Given the description of an element on the screen output the (x, y) to click on. 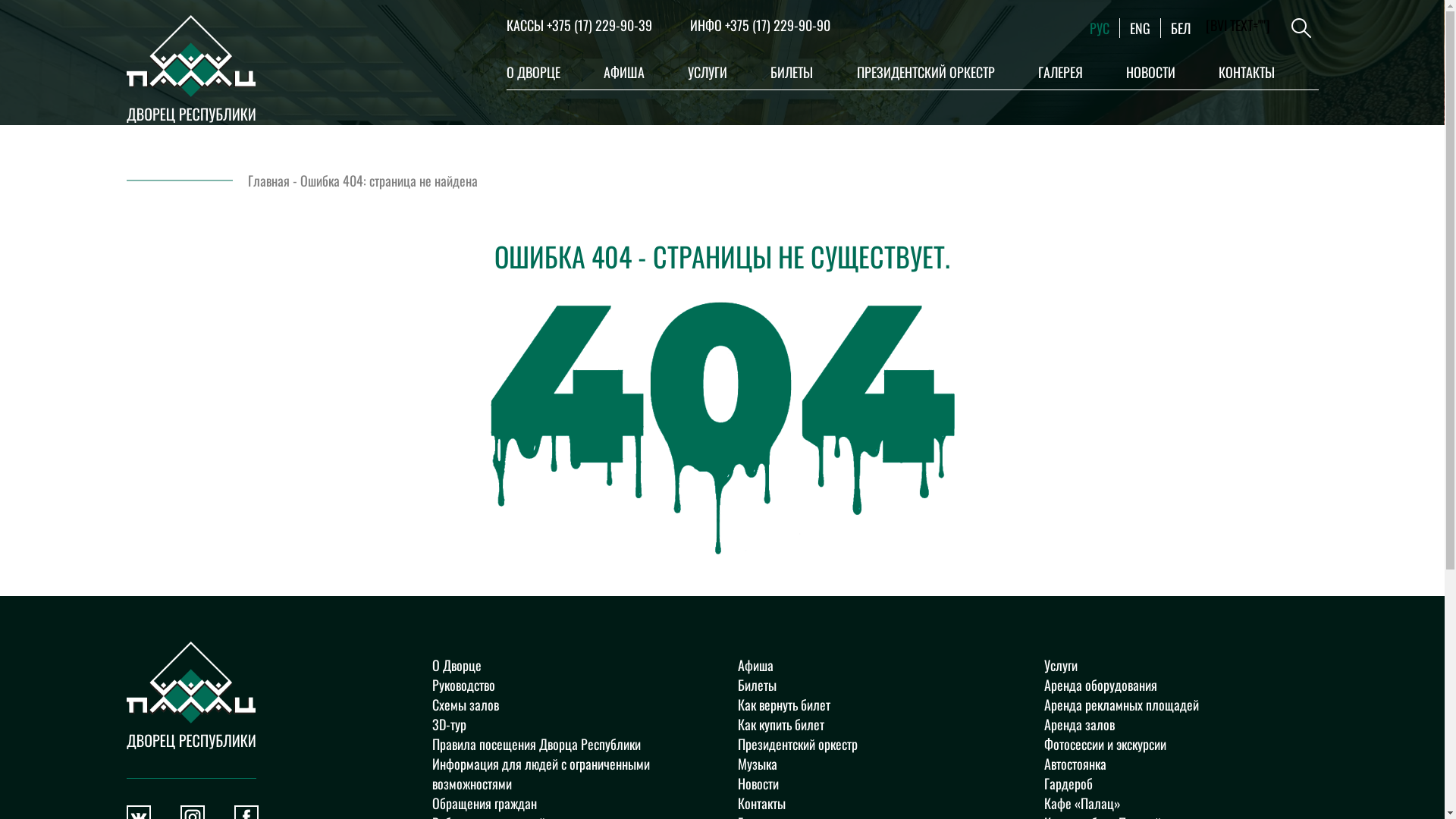
ENG Element type: text (1139, 27)
